Given the description of an element on the screen output the (x, y) to click on. 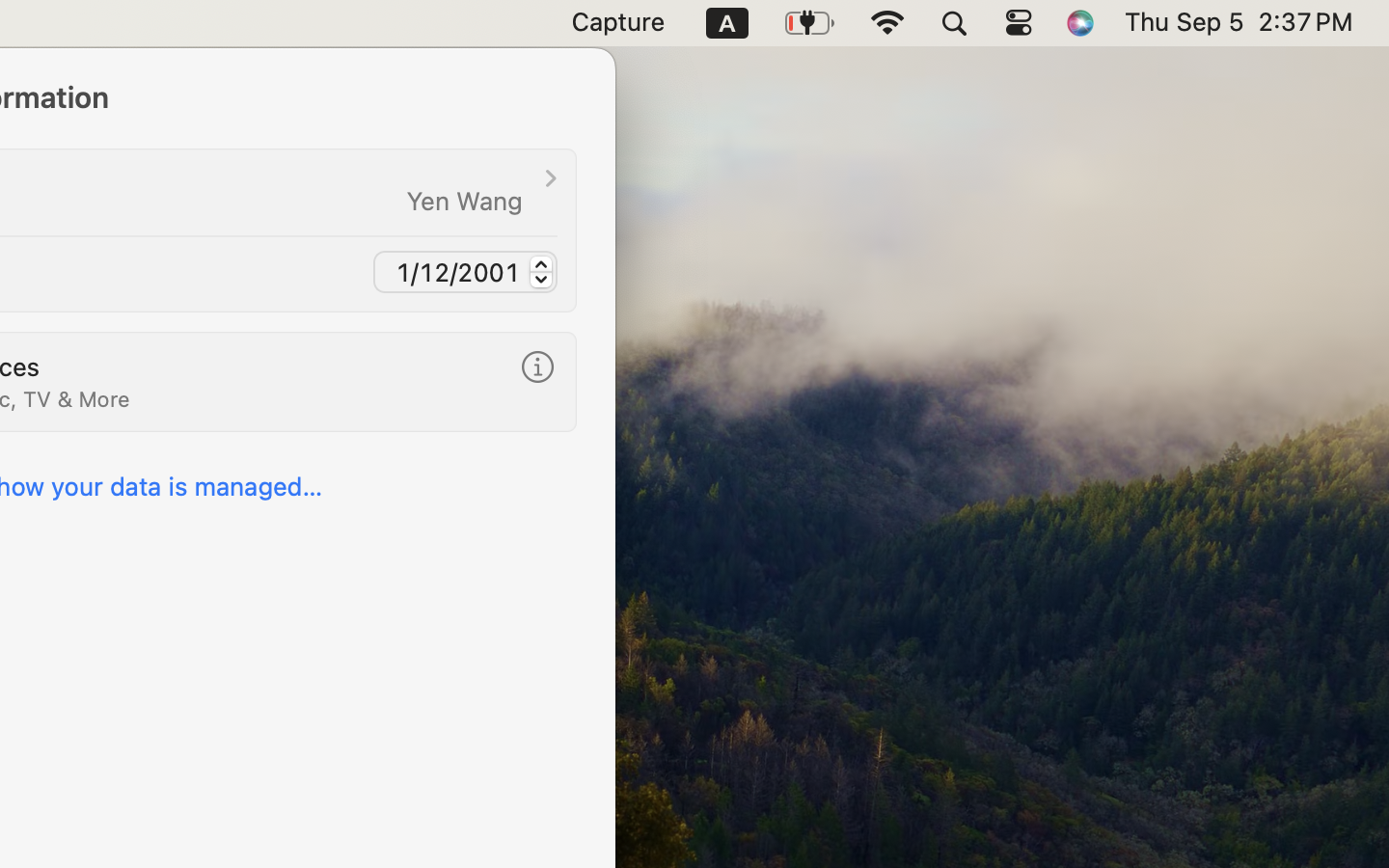
0.5 Element type: AXIncrementor (541, 271)
